Given the description of an element on the screen output the (x, y) to click on. 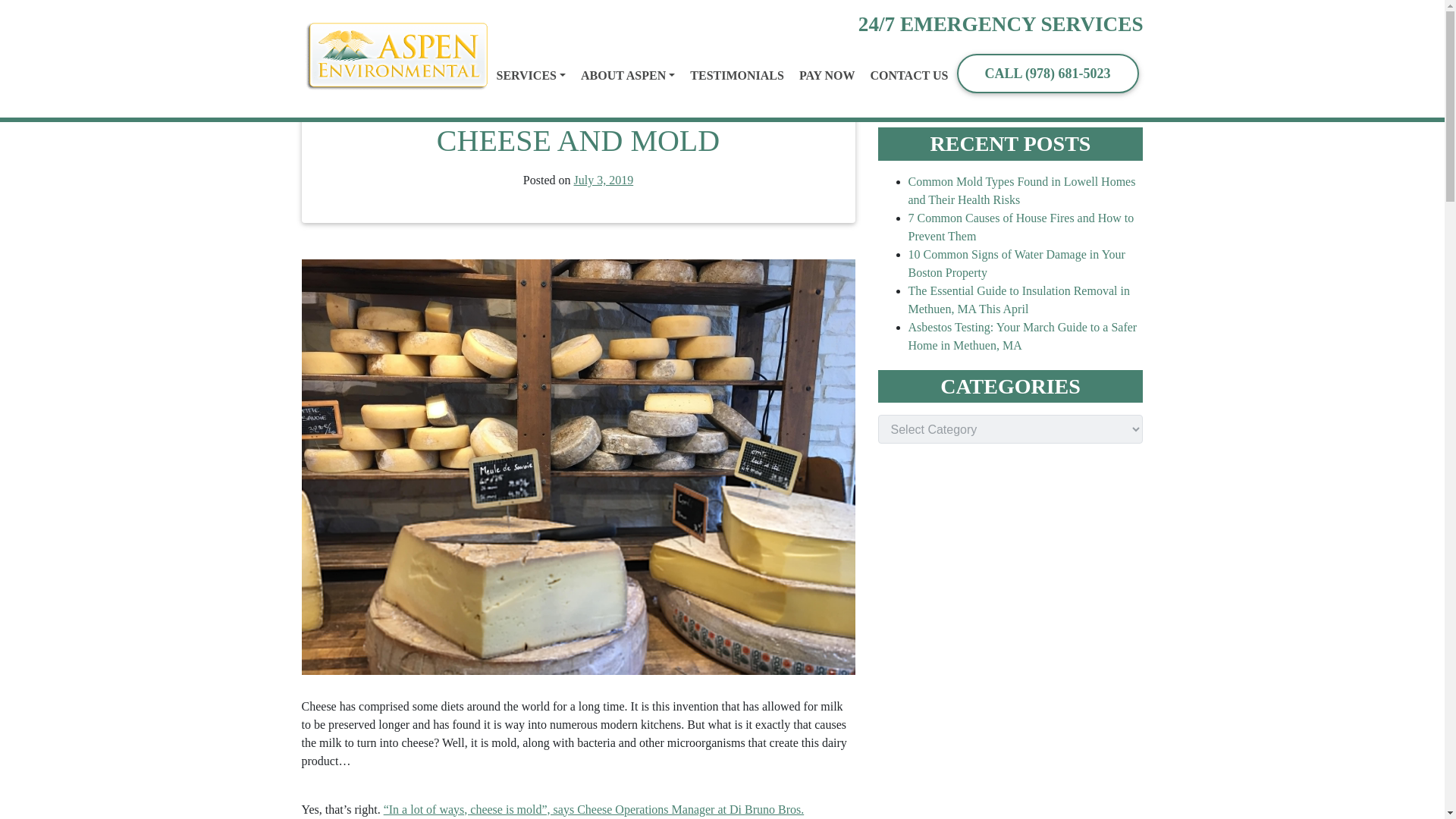
PAY NOW (826, 75)
SERVICES (530, 75)
Search (1080, 91)
Home (338, 17)
July 3, 2019 (603, 179)
Search (1080, 91)
ABOUT ASPEN (627, 75)
CONTACT US (909, 75)
Blog (375, 17)
TESTIMONIALS (736, 75)
